Given the description of an element on the screen output the (x, y) to click on. 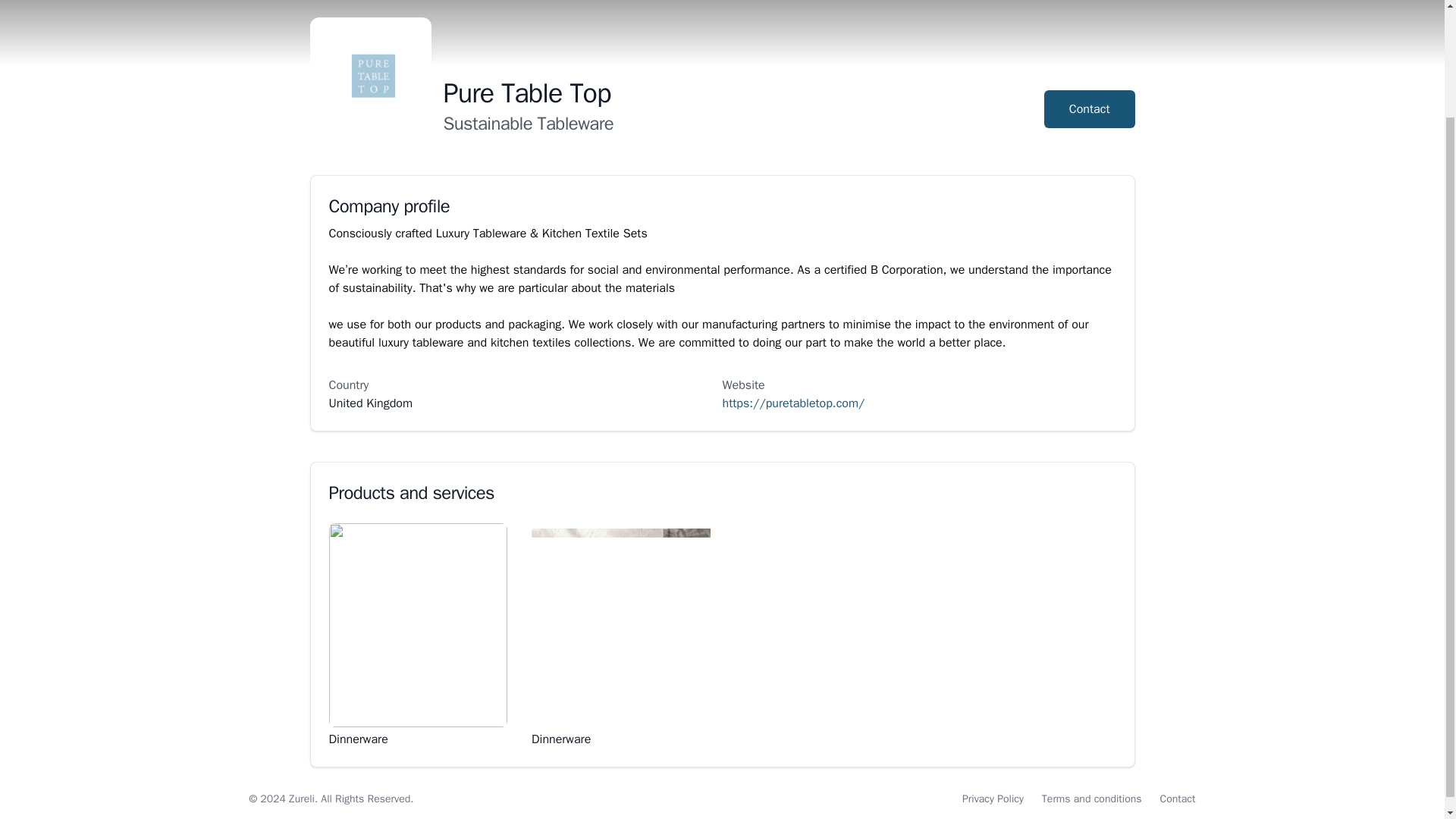
Contact (1177, 798)
Zureli (301, 798)
Terms and conditions (1091, 798)
Privacy Policy (992, 798)
Contact (1089, 108)
